Given the description of an element on the screen output the (x, y) to click on. 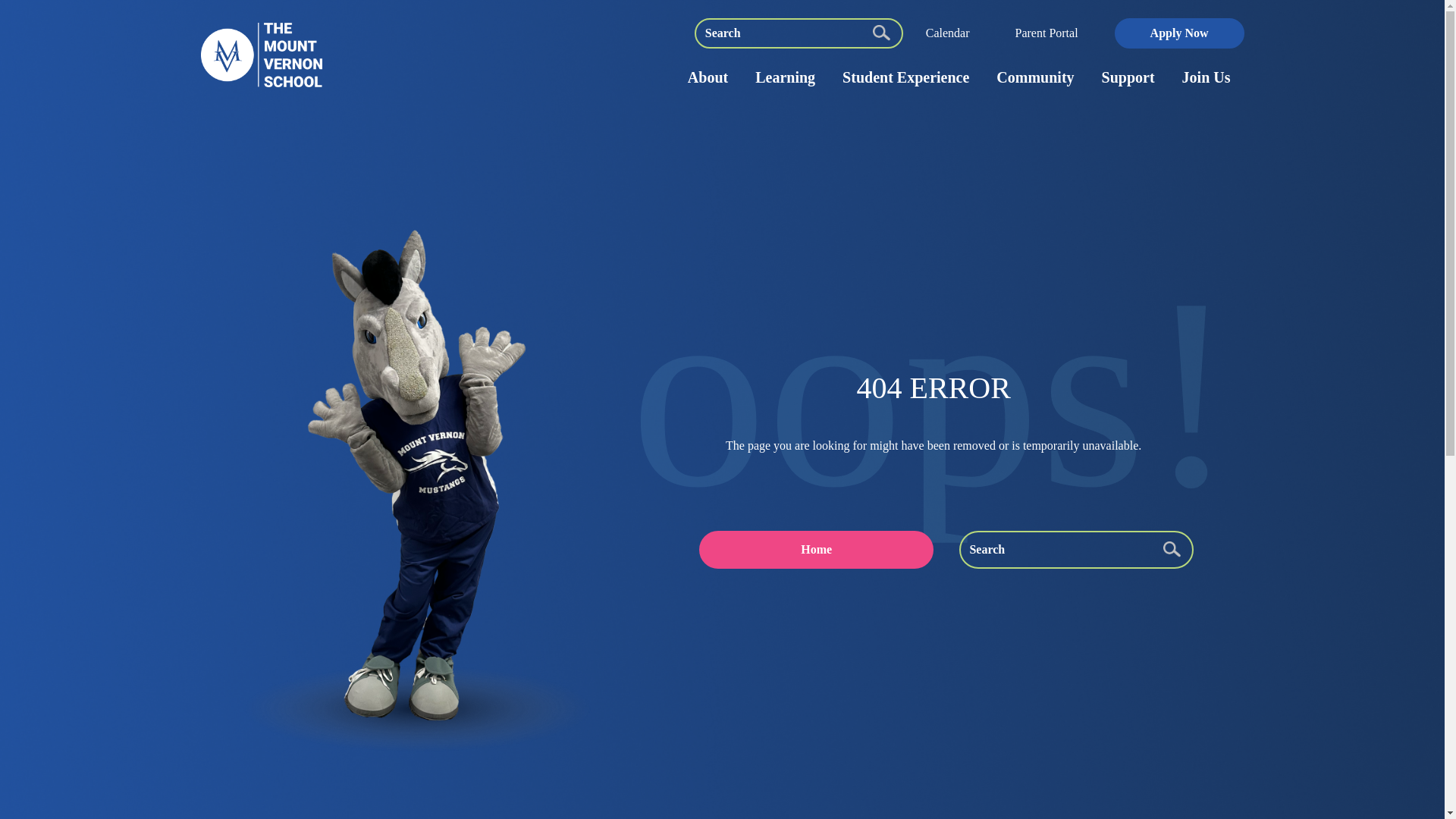
Community (1034, 77)
Support (1128, 77)
Parent Portal (1045, 32)
Learning (784, 77)
Apply Now (1178, 32)
About (707, 77)
Learning (784, 77)
Student Experience (905, 77)
About (707, 77)
Student Experience (905, 77)
